Given the description of an element on the screen output the (x, y) to click on. 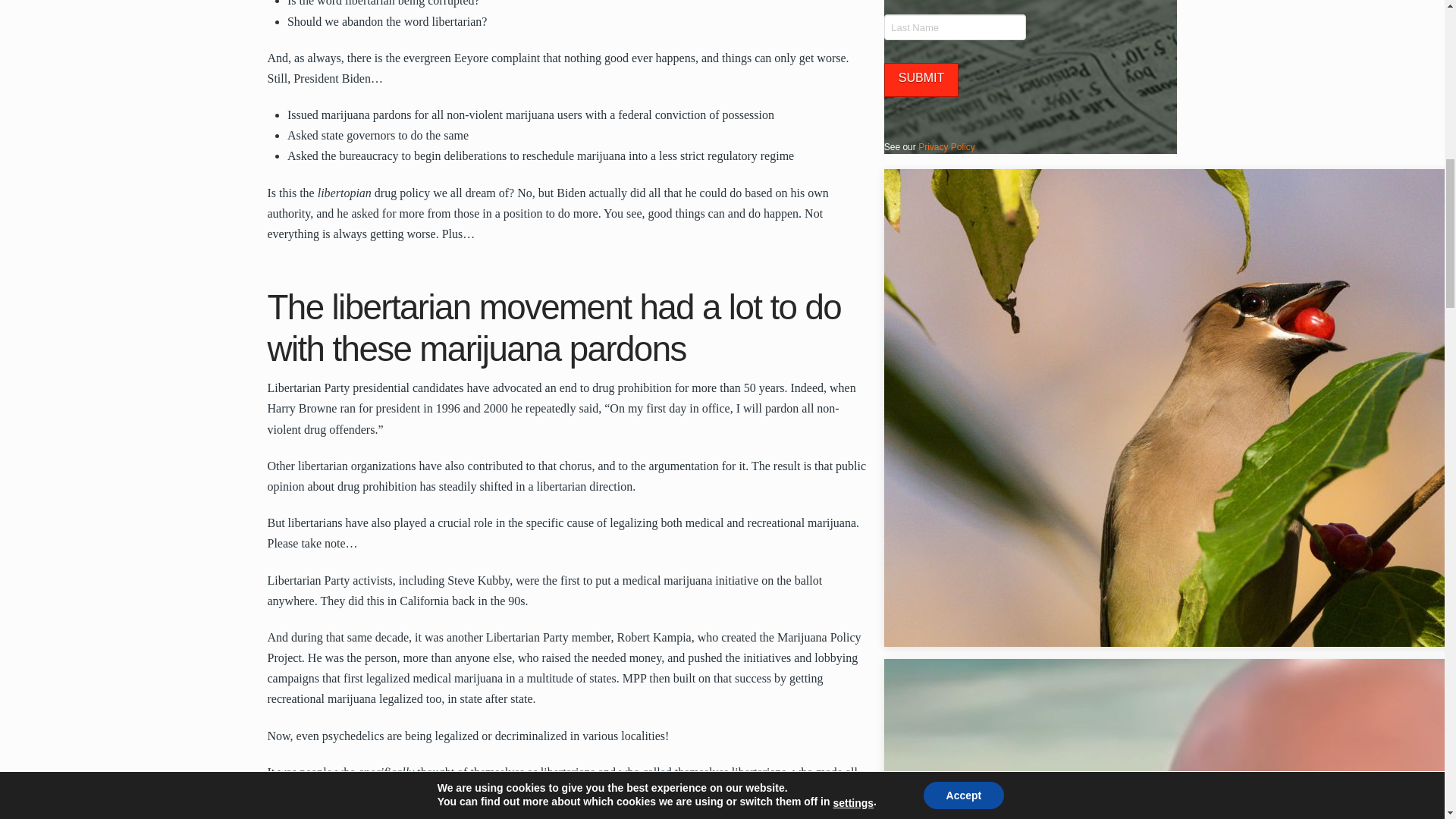
SUBMIT (920, 80)
Privacy Policy (946, 146)
SUBMIT (920, 80)
